Given the description of an element on the screen output the (x, y) to click on. 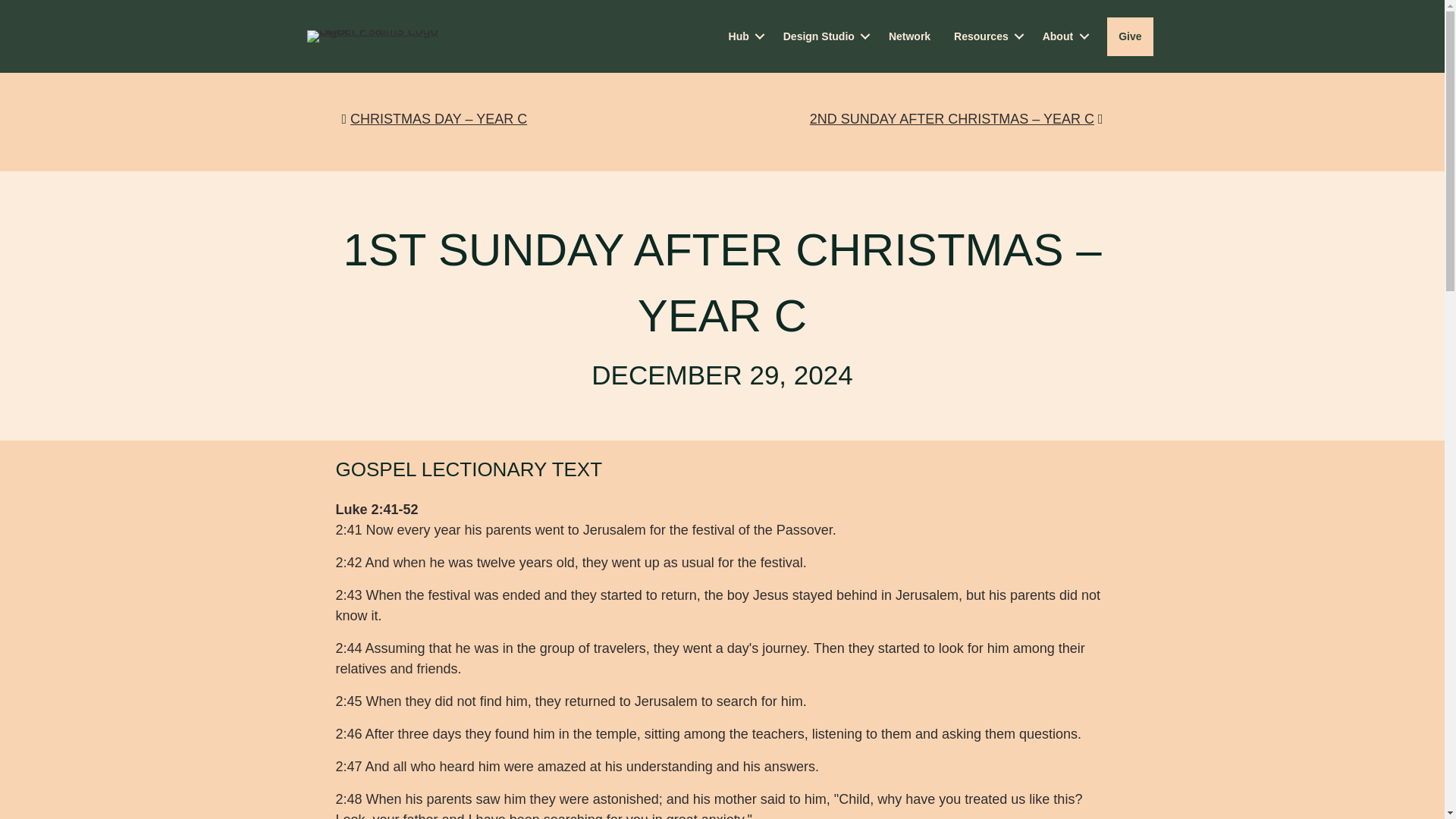
Design Studio (823, 35)
Hub (744, 35)
Resources (986, 35)
About (1062, 35)
Give (1129, 35)
Network (909, 35)
